Given the description of an element on the screen output the (x, y) to click on. 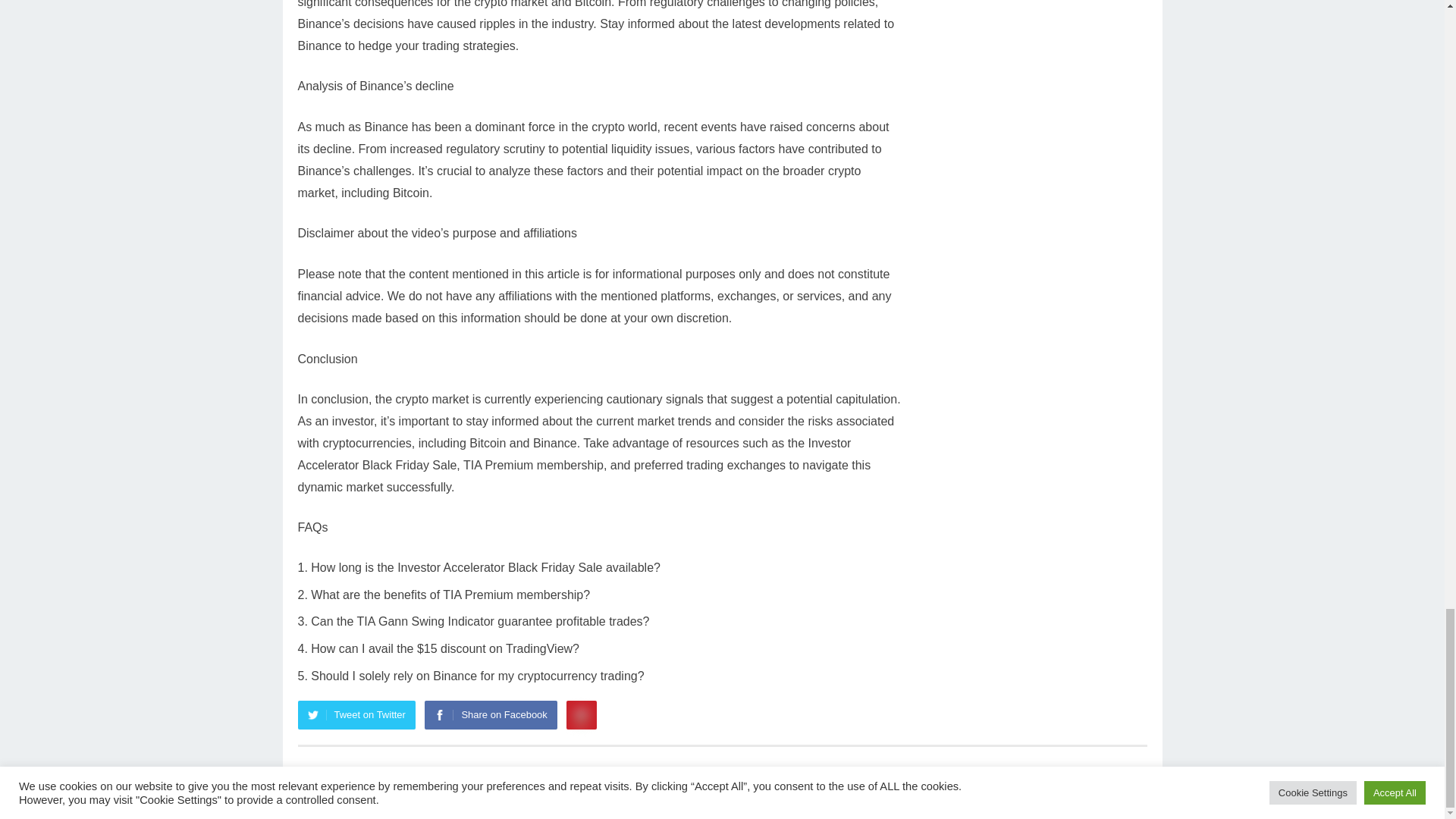
Share on Facebook (490, 715)
Pinterest (581, 715)
Tweet on Twitter (355, 715)
